Given the description of an element on the screen output the (x, y) to click on. 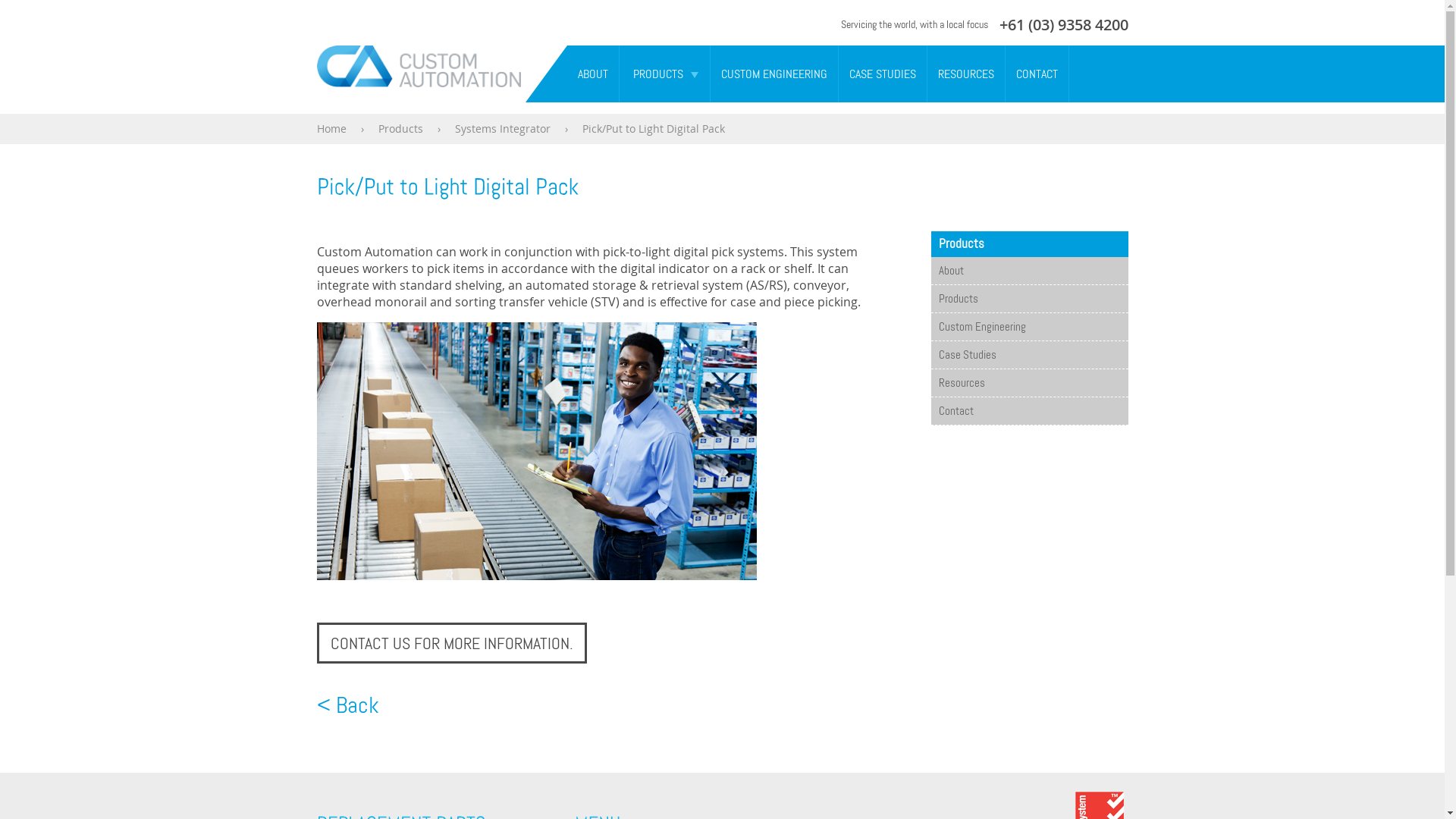
About Element type: text (1029, 270)
ABOUT Element type: text (592, 73)
CUSTOM ENGINEERING Element type: text (773, 73)
< Back Element type: text (347, 704)
Case Studies Element type: text (1029, 354)
Resources Element type: text (1029, 382)
PRODUCTS Element type: text (652, 73)
Contact Element type: text (1029, 410)
Custom Engineering Element type: text (1029, 326)
CONTACT US FOR MORE INFORMATION. Element type: text (451, 642)
CASE STUDIES Element type: text (882, 73)
RESOURCES Element type: text (965, 73)
Products Element type: text (399, 128)
Systems Integrator Element type: text (502, 128)
Home Element type: text (331, 128)
CONTACT Element type: text (1036, 73)
+61 (03) 9358 4200 Element type: text (1063, 24)
Products Element type: text (1029, 298)
